Given the description of an element on the screen output the (x, y) to click on. 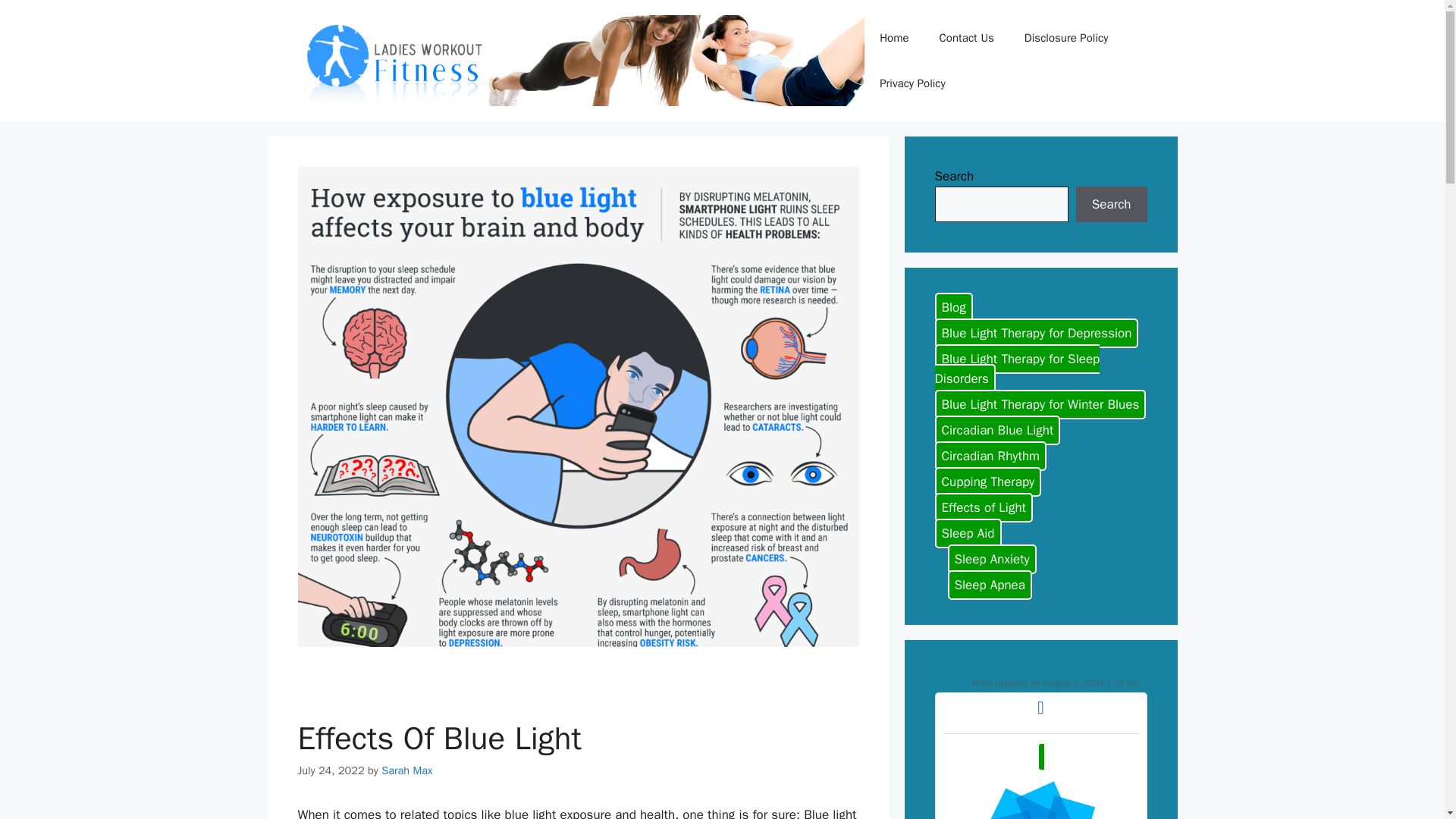
Contact Us (966, 37)
Privacy Policy (912, 83)
Disclosure Policy (1066, 37)
Home (893, 37)
View all posts by Sarah Max (406, 770)
Sarah Max (406, 770)
